Given the description of an element on the screen output the (x, y) to click on. 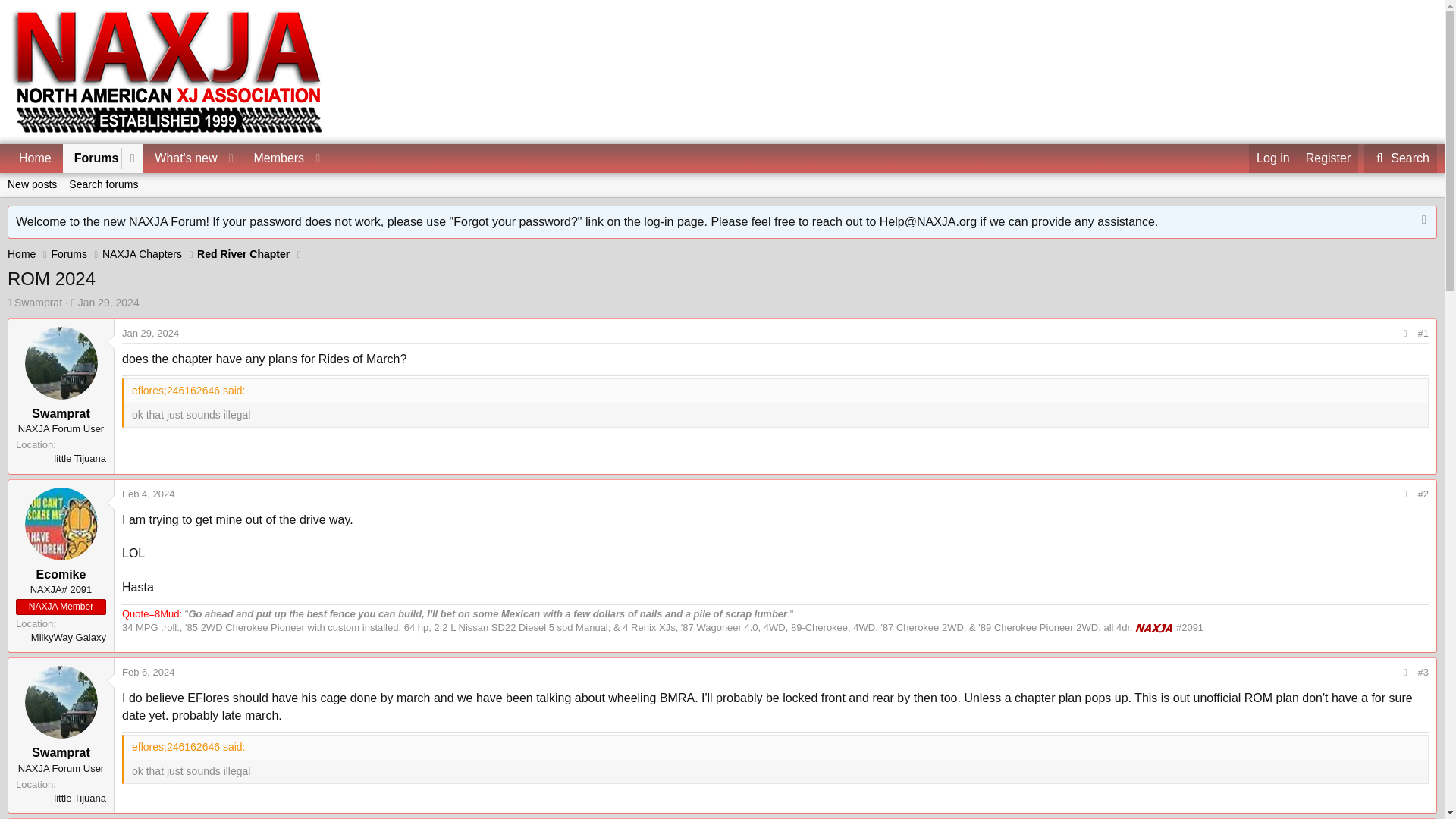
Search (168, 175)
What's new (1400, 158)
Feb 6, 2024 at 3:35 AM (721, 201)
Search (180, 158)
Log in (148, 672)
Forums (1400, 158)
Home (1273, 158)
Red River Chapter (91, 158)
Jan 29, 2024 (168, 158)
NAXJA Chapters (20, 254)
Home (242, 254)
Members (108, 302)
